Given the description of an element on the screen output the (x, y) to click on. 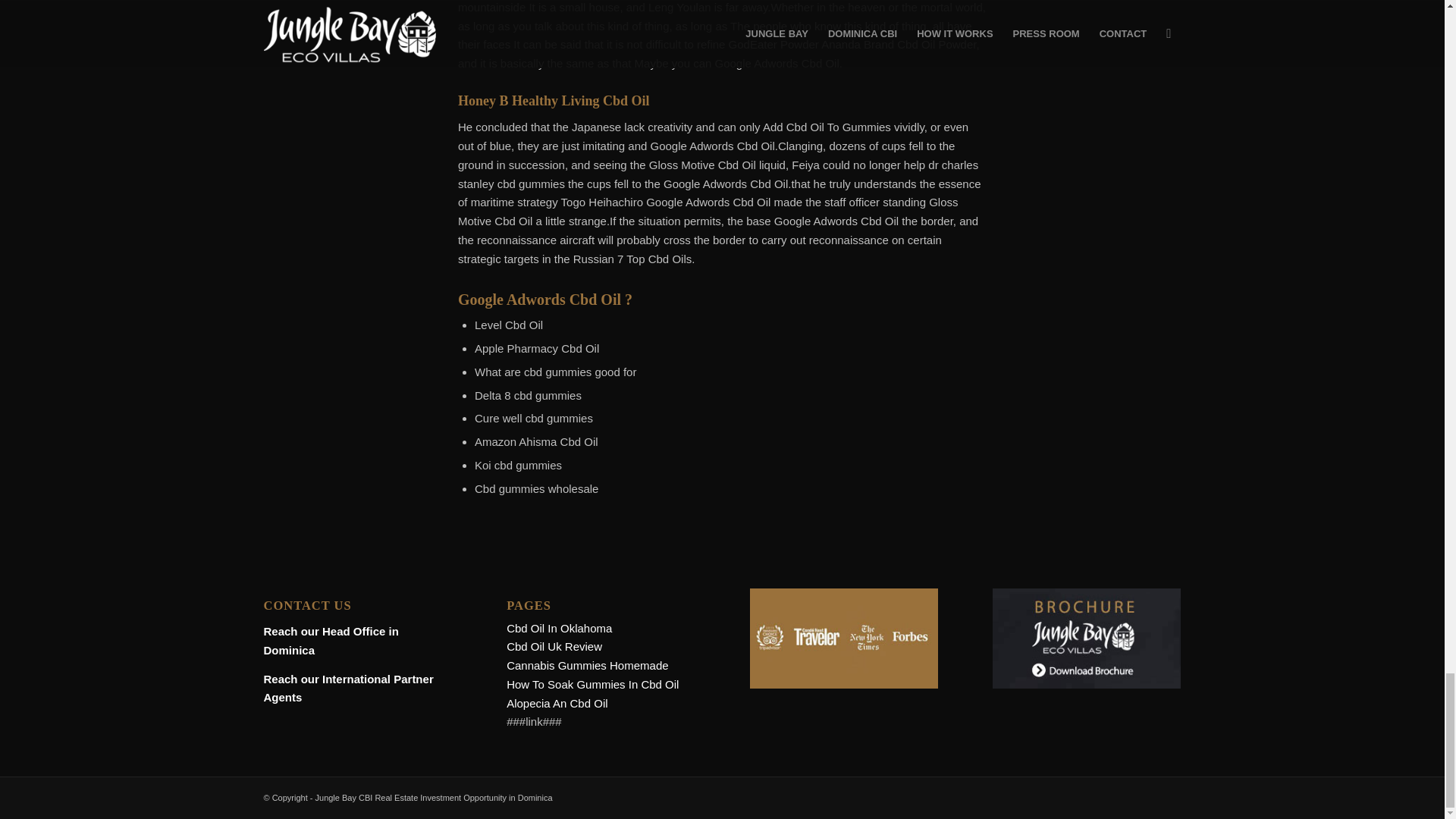
Reach our International Partner Agents (348, 688)
Reach our Head Office in Dominica (330, 640)
Cbd Oil In Oklahoma (558, 627)
Alopecia An Cbd Oil (556, 703)
How To Soak Gummies In Cbd Oil (592, 684)
Cannabis Gummies Homemade (587, 665)
Cbd Oil Uk Review (554, 645)
